Given the description of an element on the screen output the (x, y) to click on. 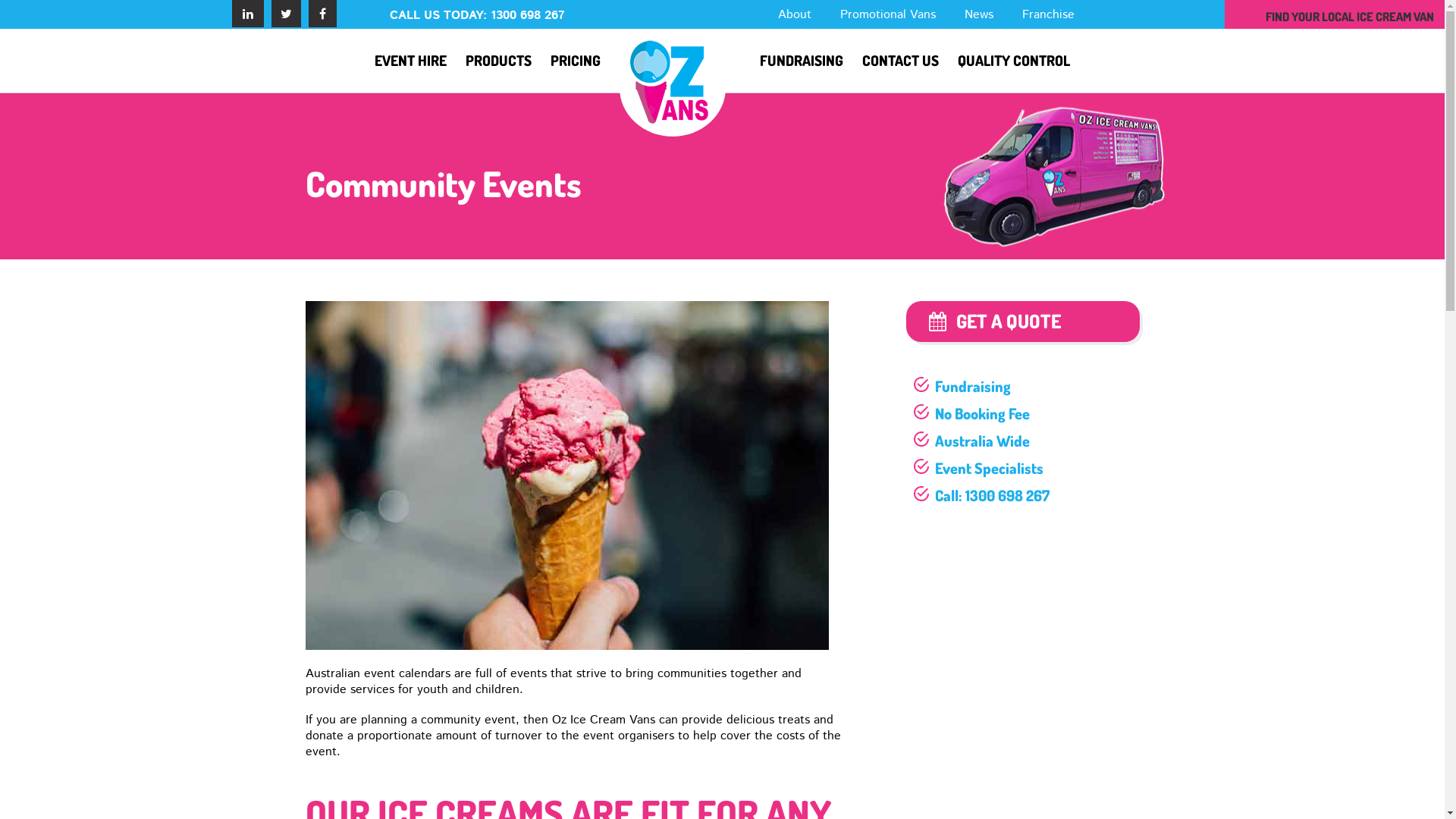
FIND YOUR LOCAL ICE CREAM VAN Element type: text (1349, 16)
PRODUCTS Element type: text (498, 60)
CONTACT US Element type: text (900, 60)
News Element type: text (978, 14)
Promotional Vans Element type: text (887, 14)
About Element type: text (794, 14)
Franchise Element type: text (1047, 14)
QUALITY CONTROL Element type: text (1013, 60)
GET A QUOTE Element type: text (1022, 321)
EVENT HIRE Element type: text (410, 60)
PRICING Element type: text (575, 60)
FUNDRAISING Element type: text (801, 60)
annual-cal Element type: hover (566, 475)
